Given the description of an element on the screen output the (x, y) to click on. 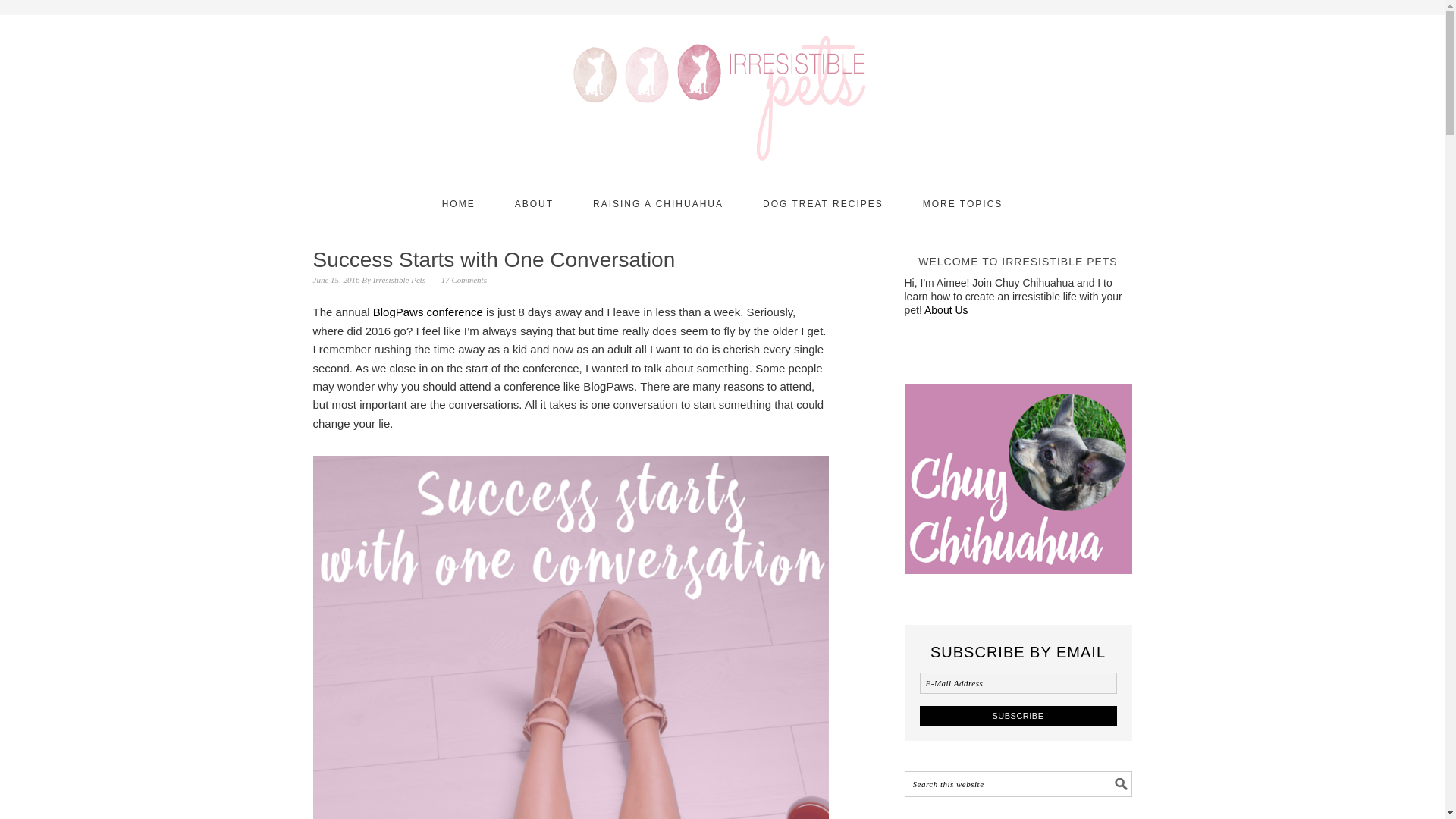
HOME (459, 203)
17 Comments (463, 279)
RAISING A CHIHUAHUA (657, 203)
Irresistible Pets (399, 279)
ABOUT (534, 203)
BlogPaws conference (427, 311)
About Us (946, 309)
MORE TOPICS (963, 203)
Subscribe (1017, 714)
DOG TREAT RECIPES (823, 203)
IRRESISTIBLE PETS (722, 92)
